Given the description of an element on the screen output the (x, y) to click on. 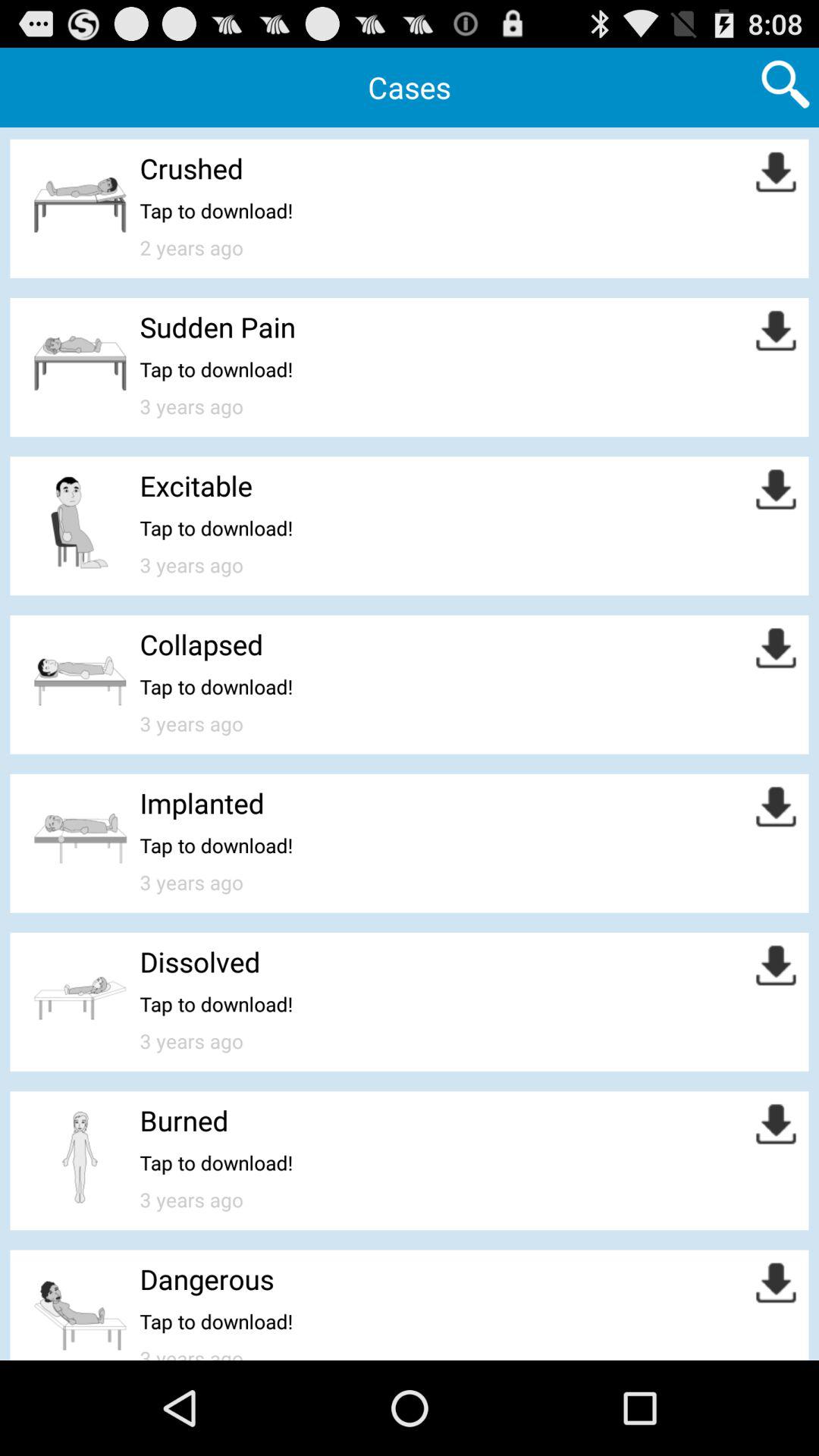
swipe until sudden pain (217, 326)
